Given the description of an element on the screen output the (x, y) to click on. 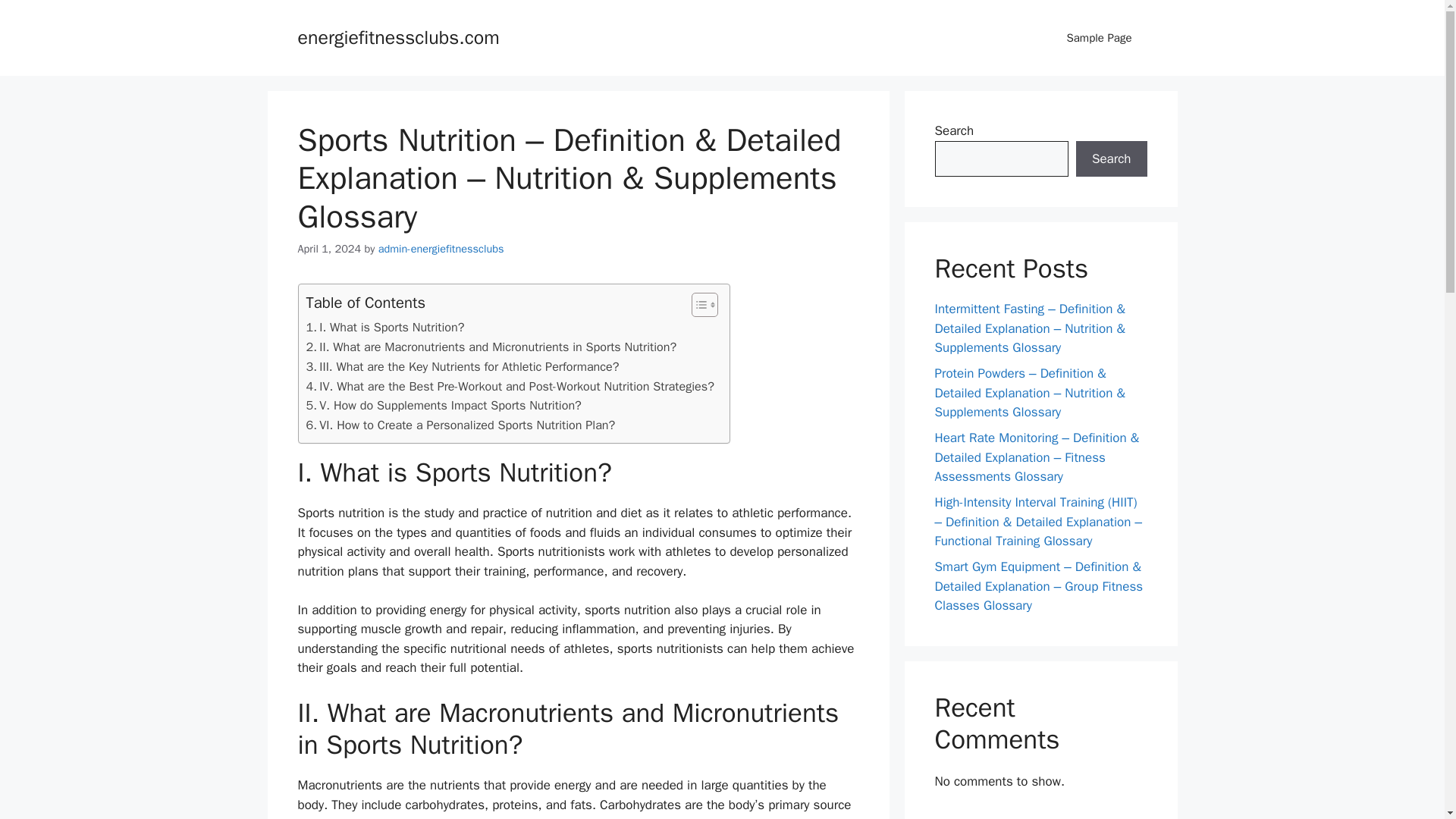
Sample Page (1099, 37)
View all posts by admin-energiefitnessclubs (440, 248)
V. How do Supplements Impact Sports Nutrition? (442, 405)
I. What is Sports Nutrition? (384, 327)
admin-energiefitnessclubs (440, 248)
I. What is Sports Nutrition? (384, 327)
III. What are the Key Nutrients for Athletic Performance? (462, 366)
energiefitnessclubs.com (398, 37)
V. How do Supplements Impact Sports Nutrition? (442, 405)
Search (1111, 158)
VI. How to Create a Personalized Sports Nutrition Plan? (460, 424)
